Given the description of an element on the screen output the (x, y) to click on. 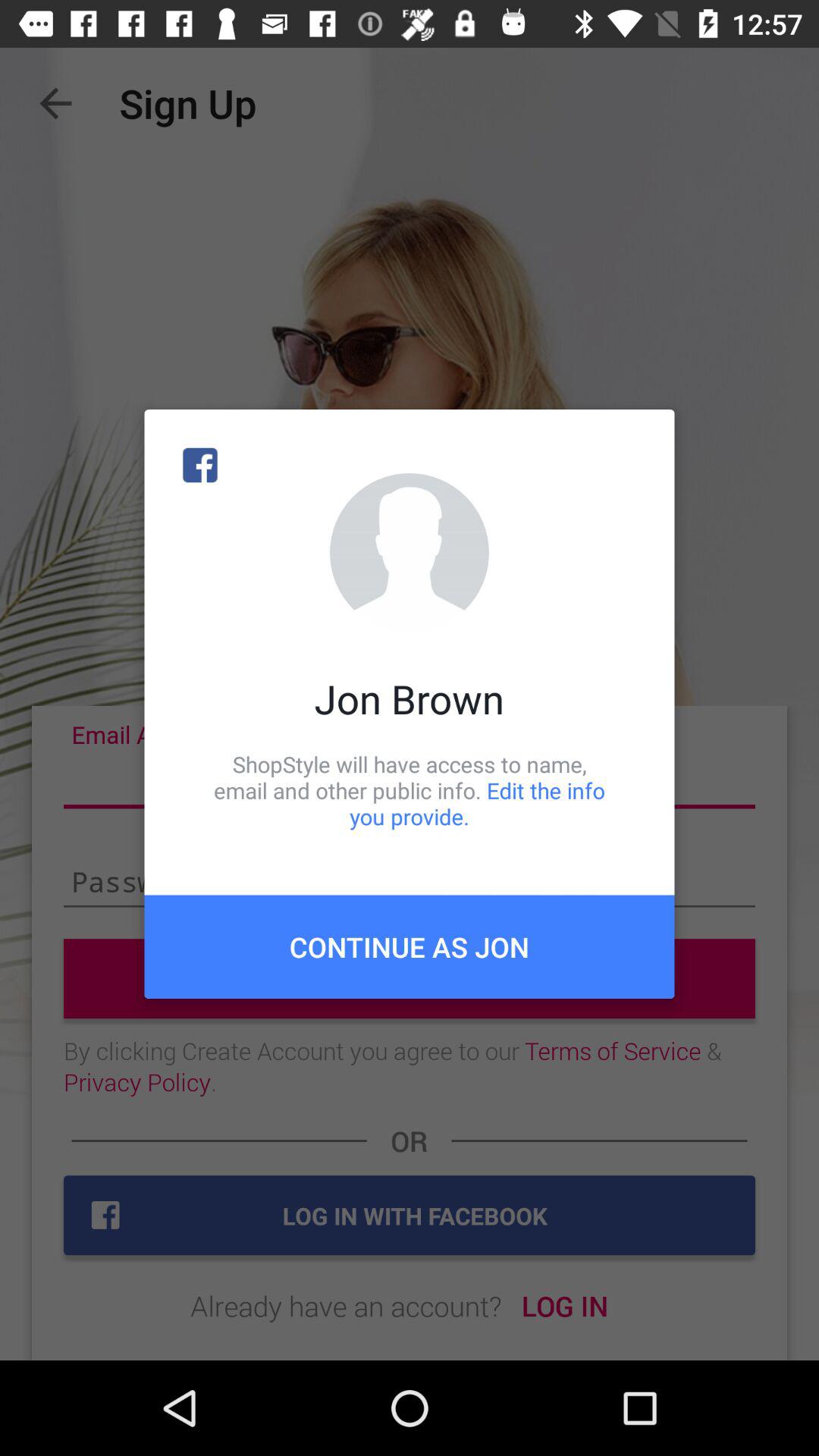
tap the continue as jon icon (409, 946)
